Given the description of an element on the screen output the (x, y) to click on. 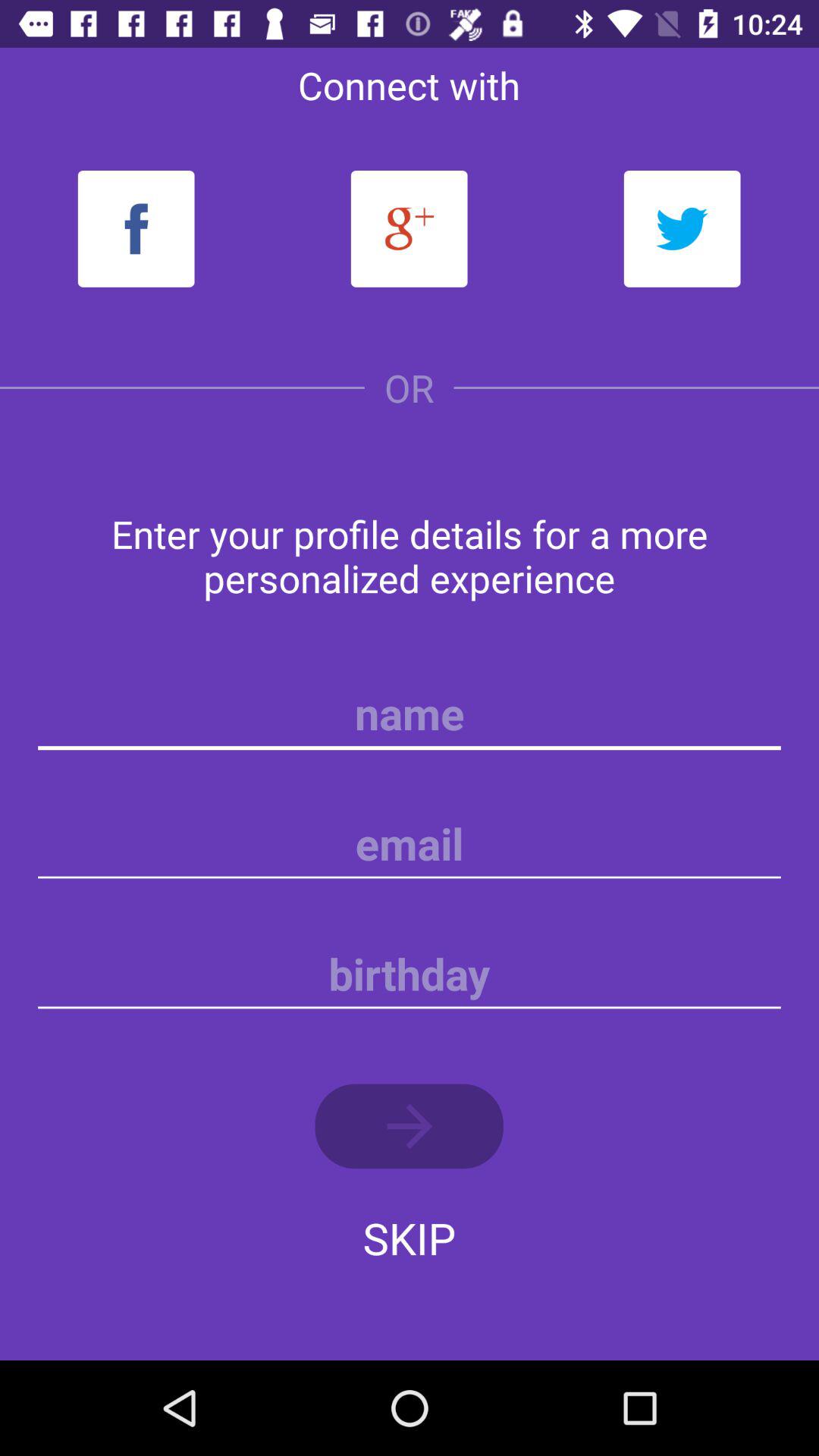
selected birthday entry field (409, 974)
